Given the description of an element on the screen output the (x, y) to click on. 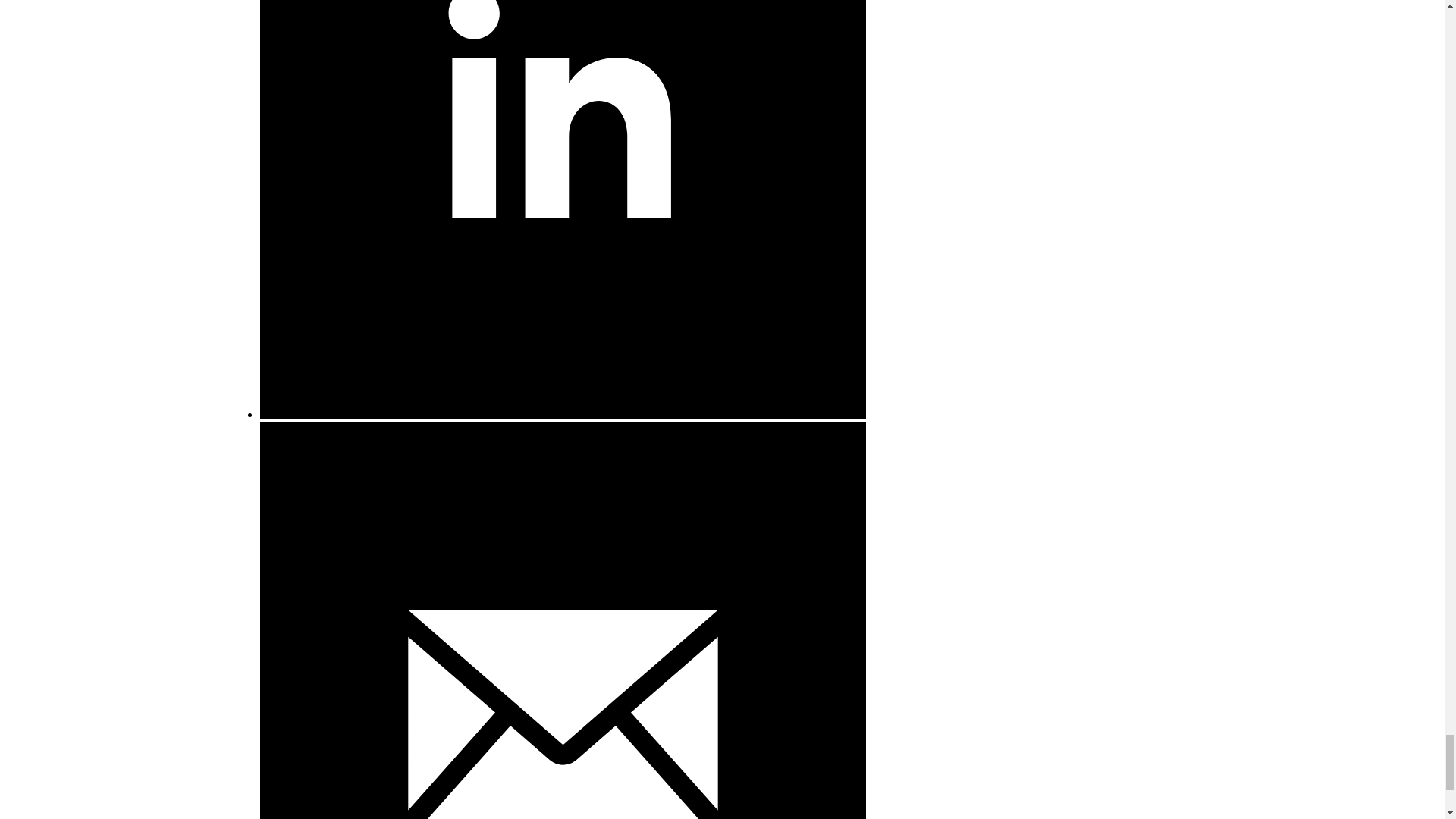
linkedIn (561, 413)
